Given the description of an element on the screen output the (x, y) to click on. 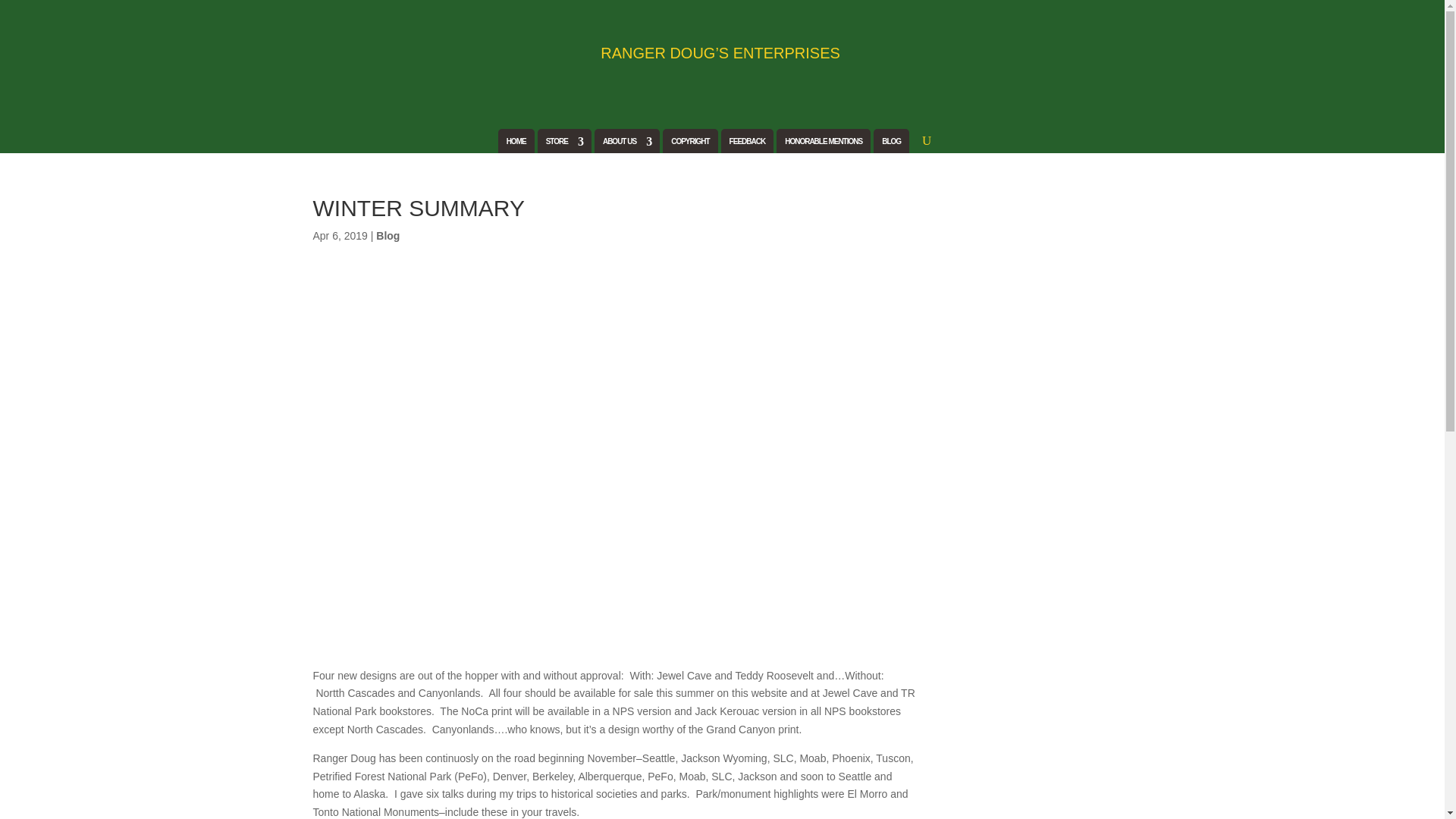
Ranger Doug's Enterprises (434, 56)
ABOUT US (626, 144)
HONORABLE MENTIONS (822, 144)
Blog (386, 235)
FEEDBACK (747, 144)
HOME (515, 144)
COPYRIGHT (690, 144)
BLOG (891, 144)
STORE (564, 144)
